Given the description of an element on the screen output the (x, y) to click on. 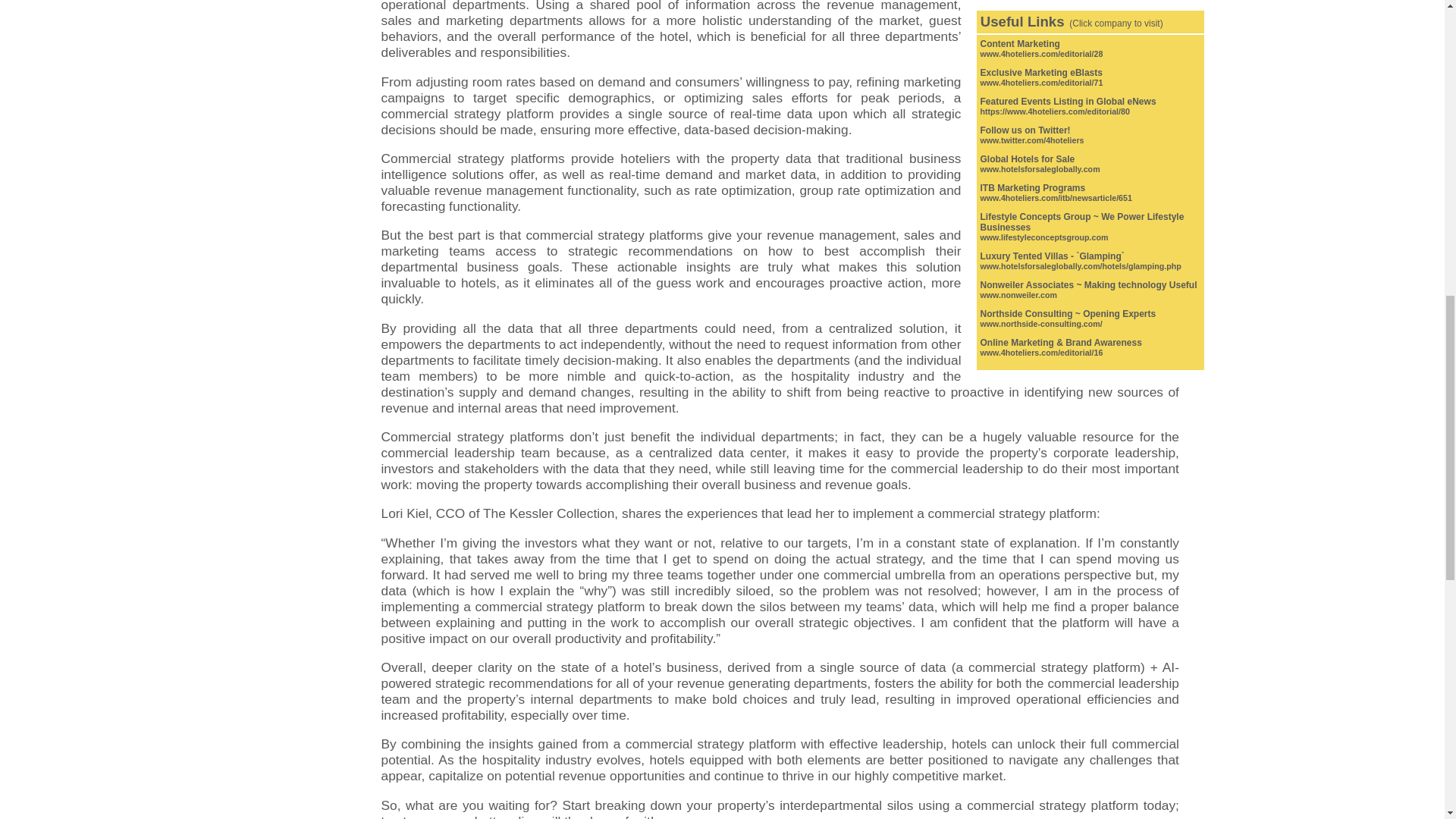
Follow us on Twitter! (1024, 130)
Exclusive Marketing eBlasts (1040, 72)
ITB Marketing Programs (1031, 187)
Content Marketing (1019, 43)
Advertisement (1090, 1)
Global Hotels for Sale (1026, 158)
Featured Events Listing in Global eNews (1067, 101)
